Given the description of an element on the screen output the (x, y) to click on. 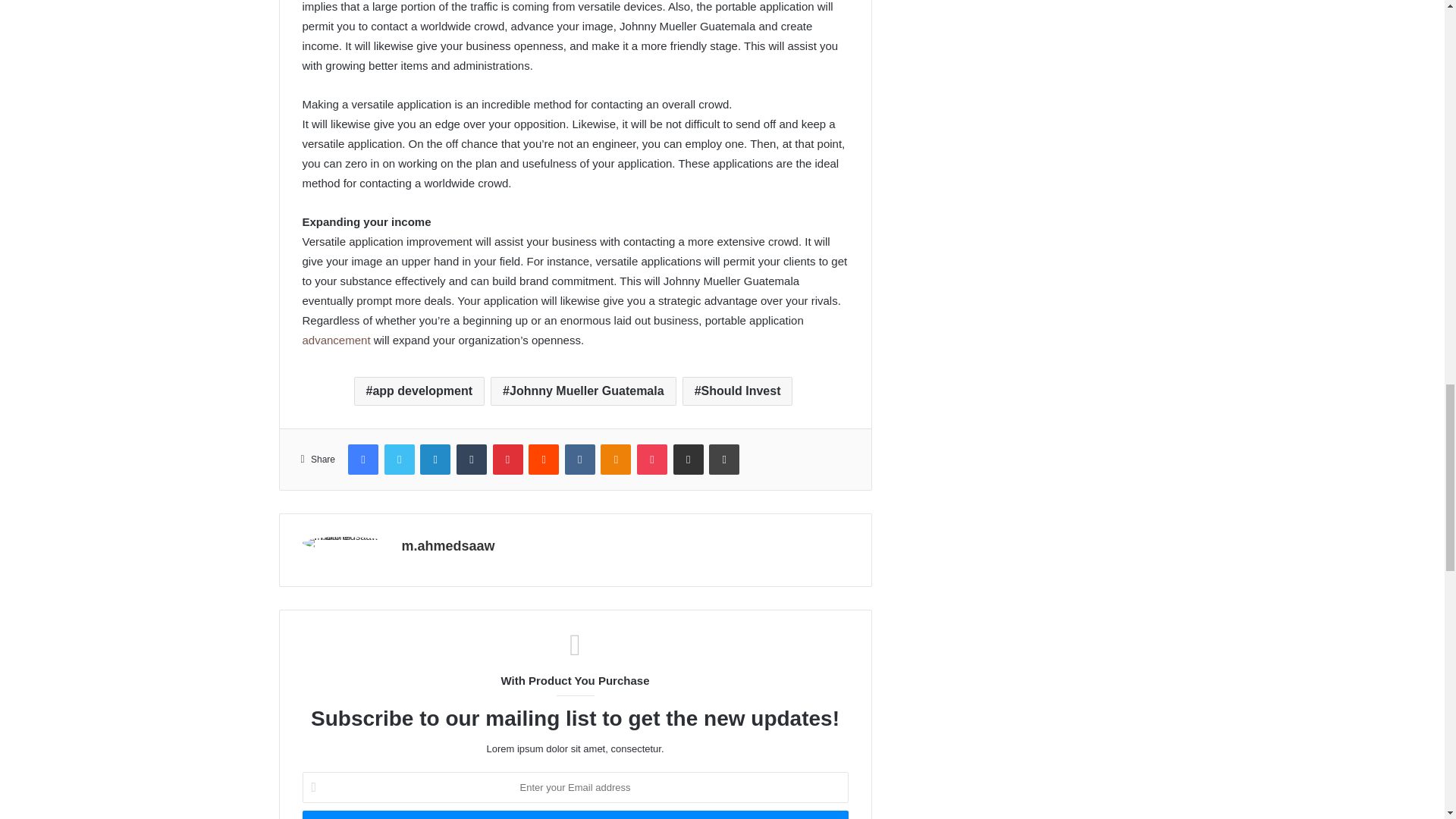
Should Invest (737, 390)
Subscribe (574, 814)
advancement (335, 339)
Johnny Mueller Guatemala (583, 390)
app development (418, 390)
